Given the description of an element on the screen output the (x, y) to click on. 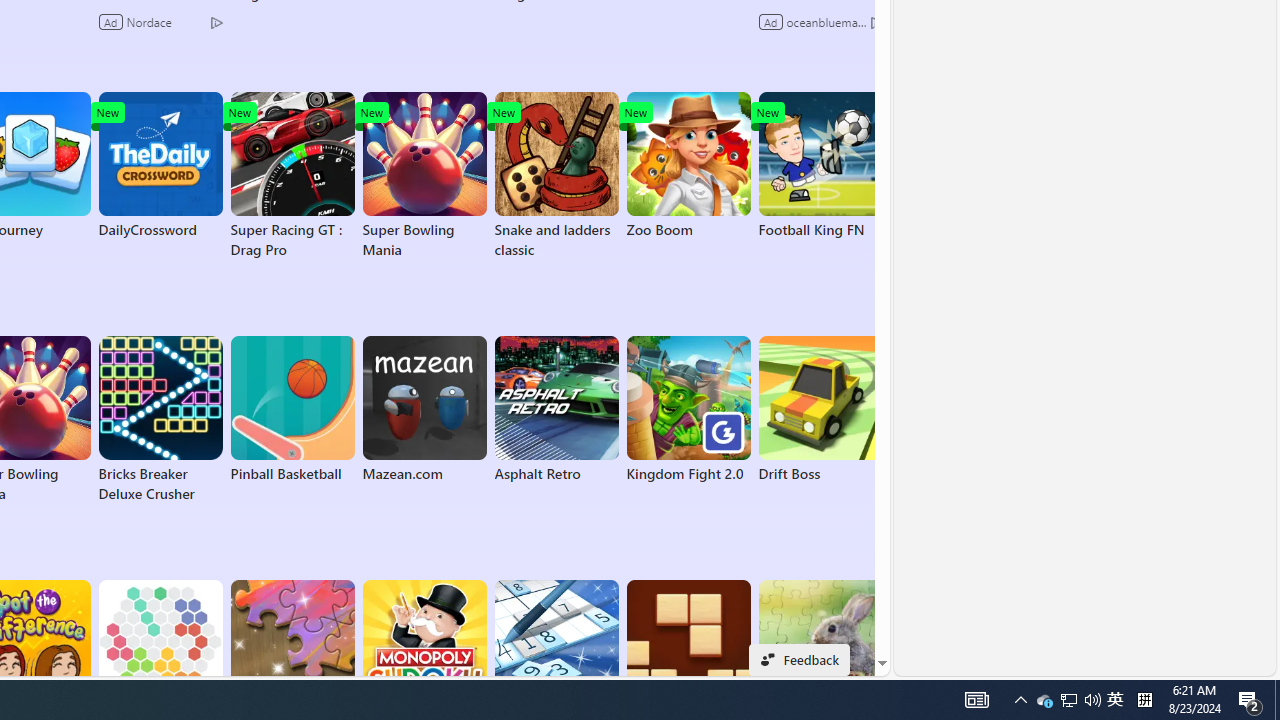
Zoo Boom (688, 165)
Bricks Breaker Deluxe Crusher (160, 419)
Asphalt Retro (556, 409)
Mazean.com (424, 409)
Drift Boss (820, 409)
Class: ad-choice  ad-choice-mono  (876, 21)
DailyCrossword (160, 165)
Pinball Basketball (292, 409)
Kingdom Fight 2.0 (688, 409)
Snake and ladders classic (556, 175)
Football King FN (820, 165)
Super Racing GT : Drag Pro (292, 175)
